Given the description of an element on the screen output the (x, y) to click on. 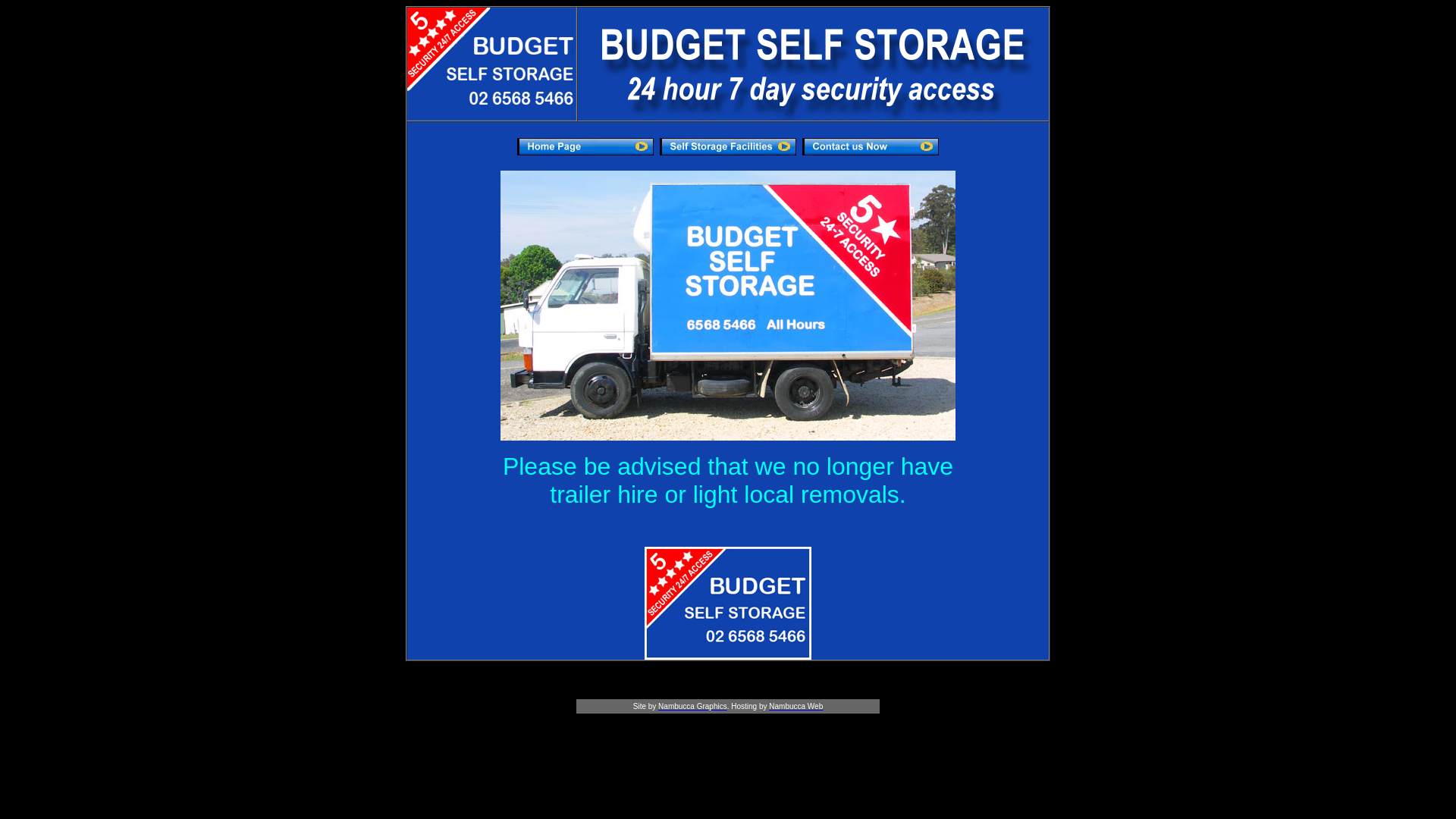
Nambucca Graphics Element type: text (692, 704)
Nambucca Web Element type: text (795, 704)
